Given the description of an element on the screen output the (x, y) to click on. 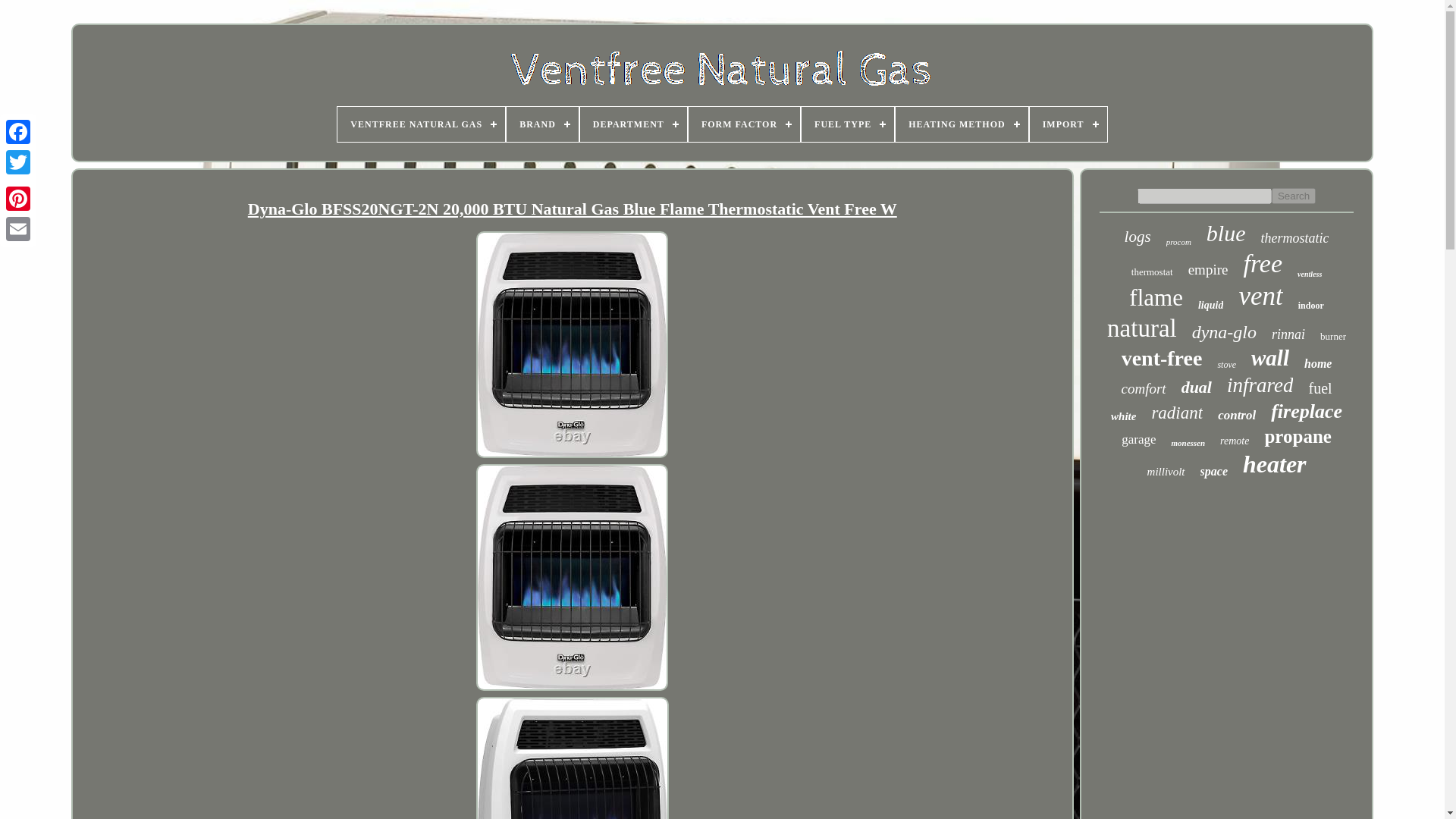
BRAND (542, 124)
Facebook (17, 132)
Twitter (17, 162)
DEPARTMENT (633, 124)
Search (1293, 195)
FORM FACTOR (743, 124)
VENTFREE NATURAL GAS (421, 124)
